Given the description of an element on the screen output the (x, y) to click on. 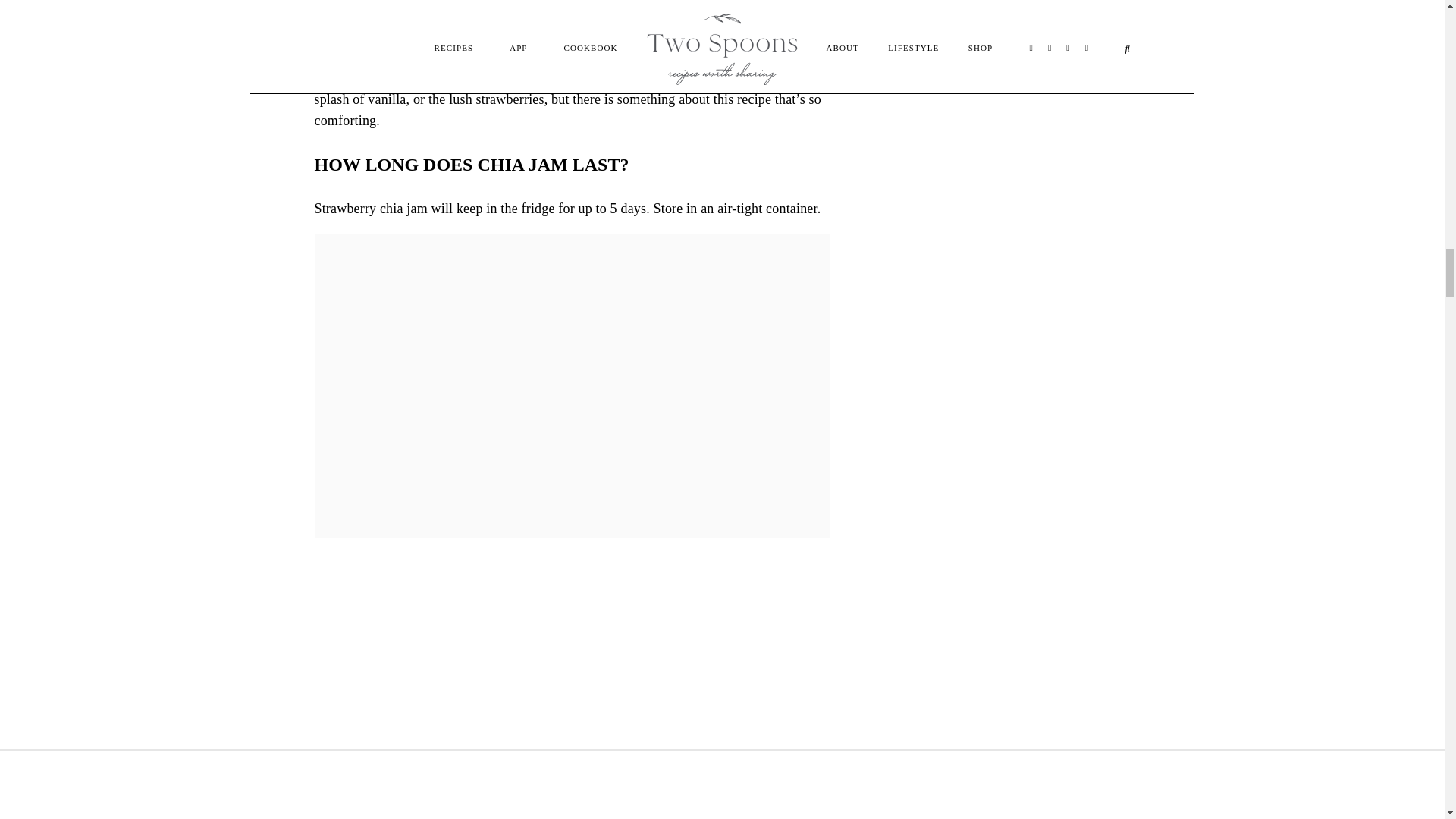
easy chia jam recipes (740, 17)
